Given the description of an element on the screen output the (x, y) to click on. 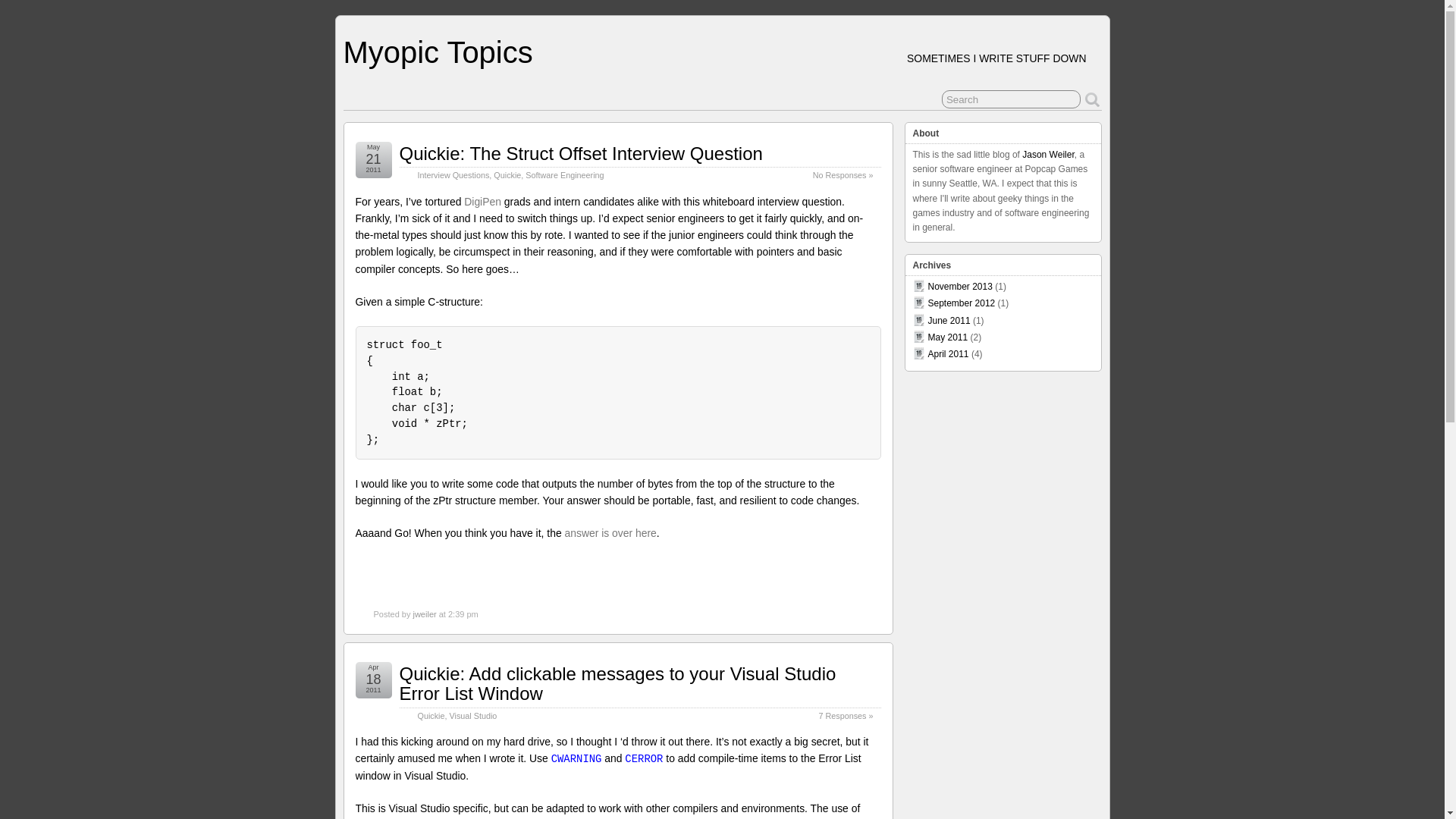
Search (1011, 99)
May 2011 (948, 337)
Quickie (507, 174)
Interview Questions (452, 174)
September 2012 (961, 303)
Software Engineering (564, 174)
Quickie: The Struct Offset Interview Question (579, 153)
DigiPen (482, 201)
Visual Studio (473, 715)
answer is over here (610, 532)
Search (1011, 99)
jweiler (423, 614)
Myopic Topics (437, 52)
